Given the description of an element on the screen output the (x, y) to click on. 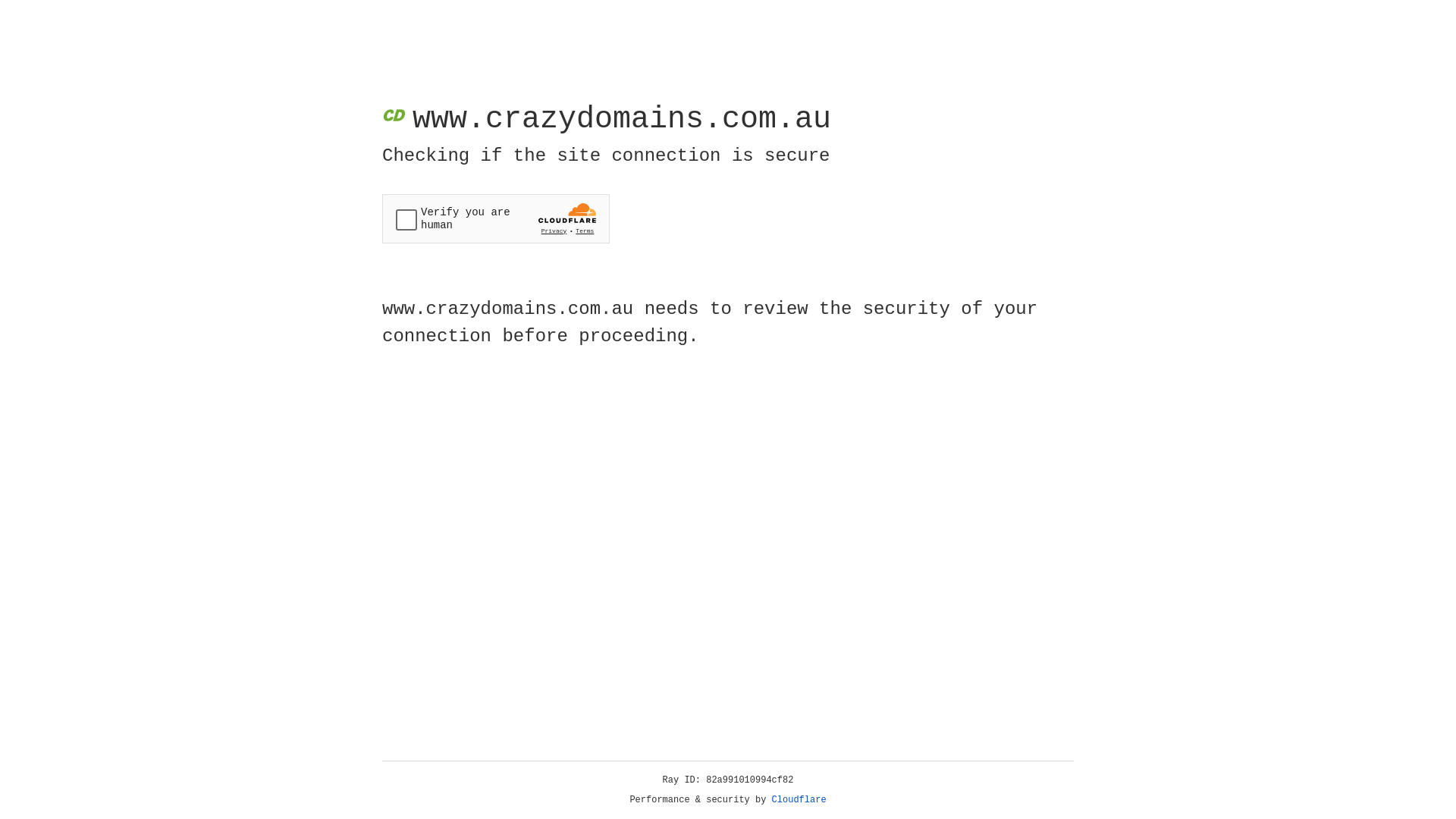
Widget containing a Cloudflare security challenge Element type: hover (495, 218)
Cloudflare Element type: text (798, 799)
